Given the description of an element on the screen output the (x, y) to click on. 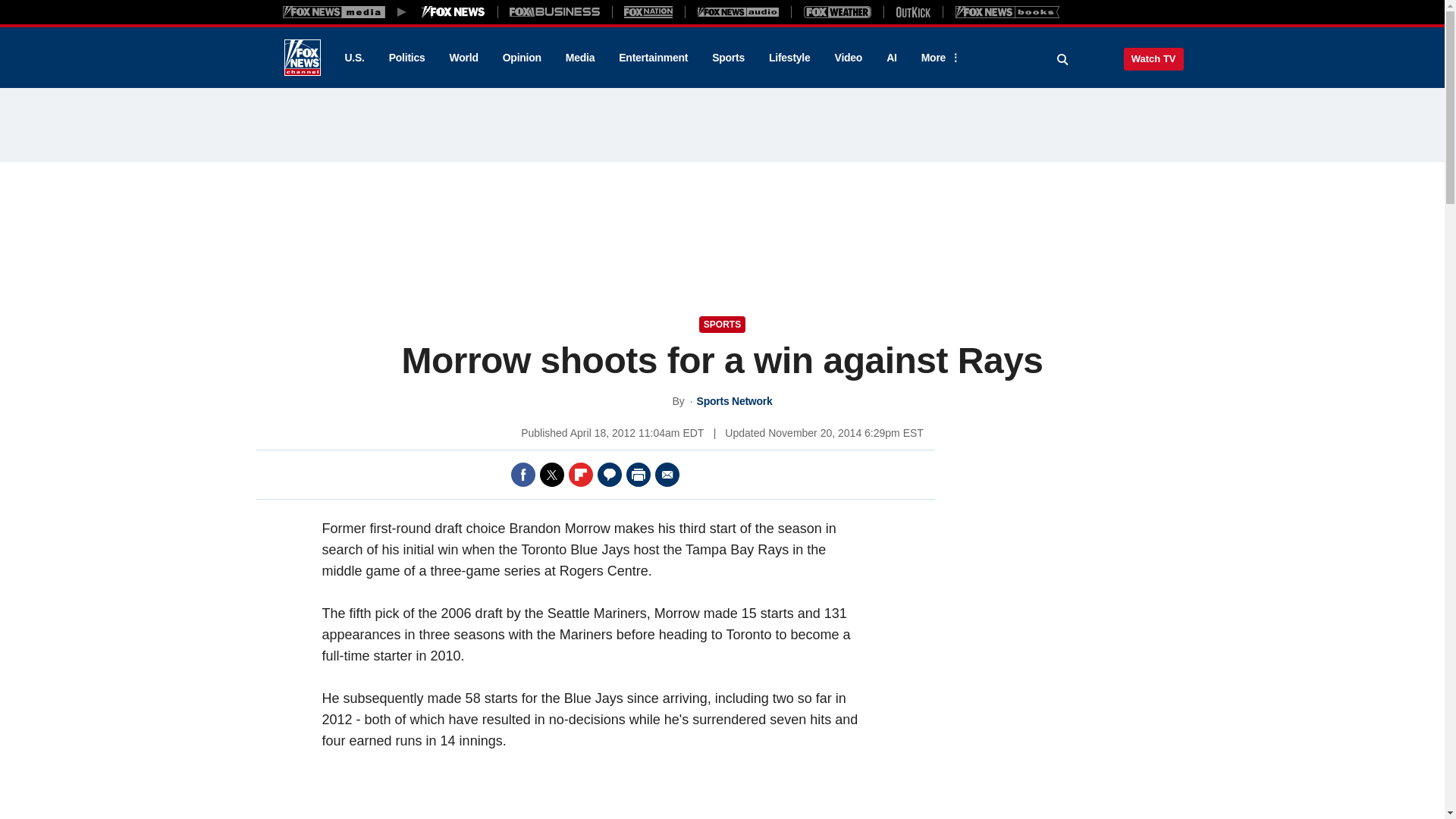
Fox Business (554, 11)
Sports (728, 57)
Fox News Media (453, 11)
Fox News Audio (737, 11)
Politics (407, 57)
Watch TV (1153, 58)
Fox Nation (648, 11)
Media (580, 57)
Books (1007, 11)
Video (848, 57)
